Given the description of an element on the screen output the (x, y) to click on. 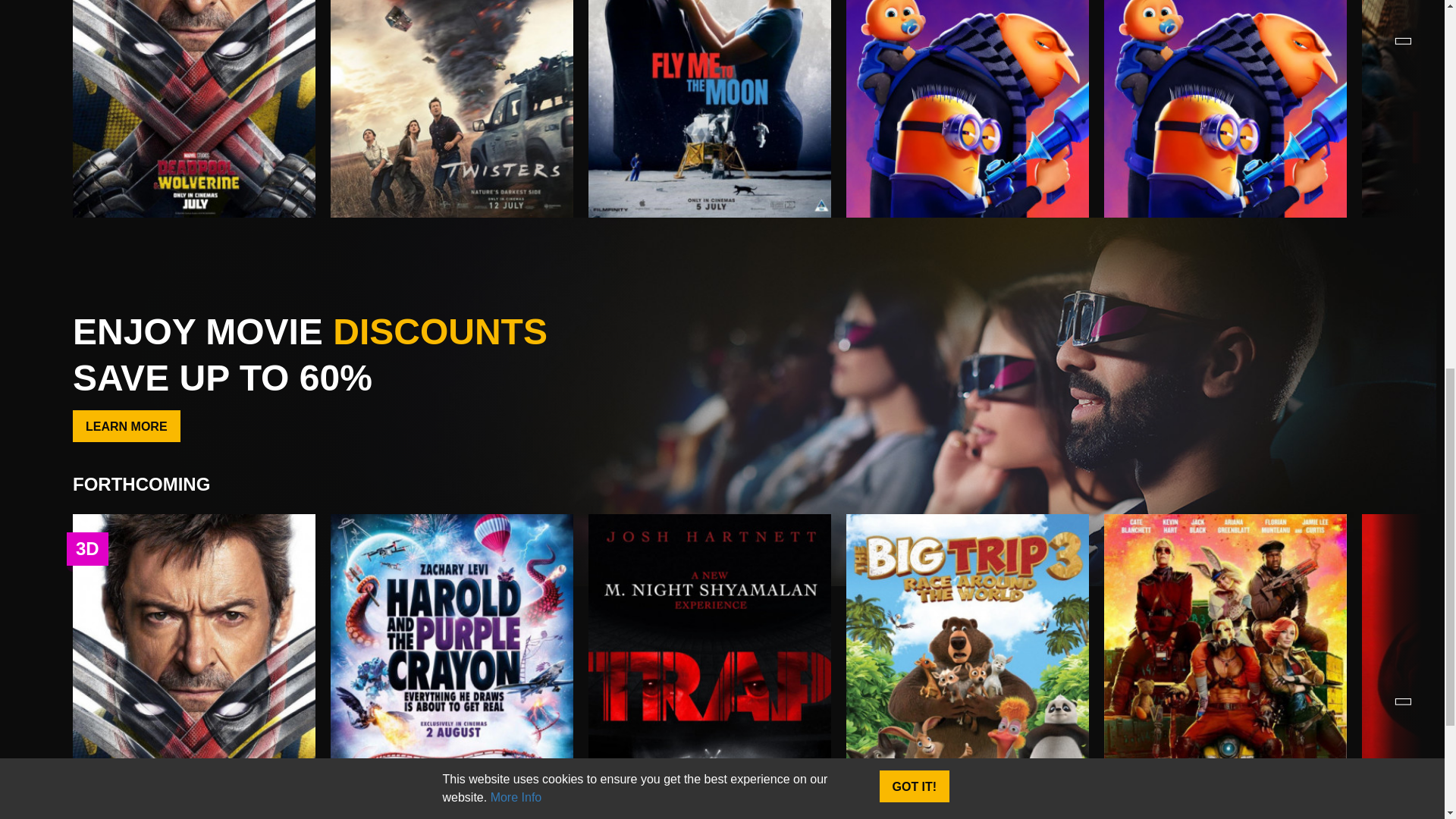
LEARN MORE (126, 426)
